Given the description of an element on the screen output the (x, y) to click on. 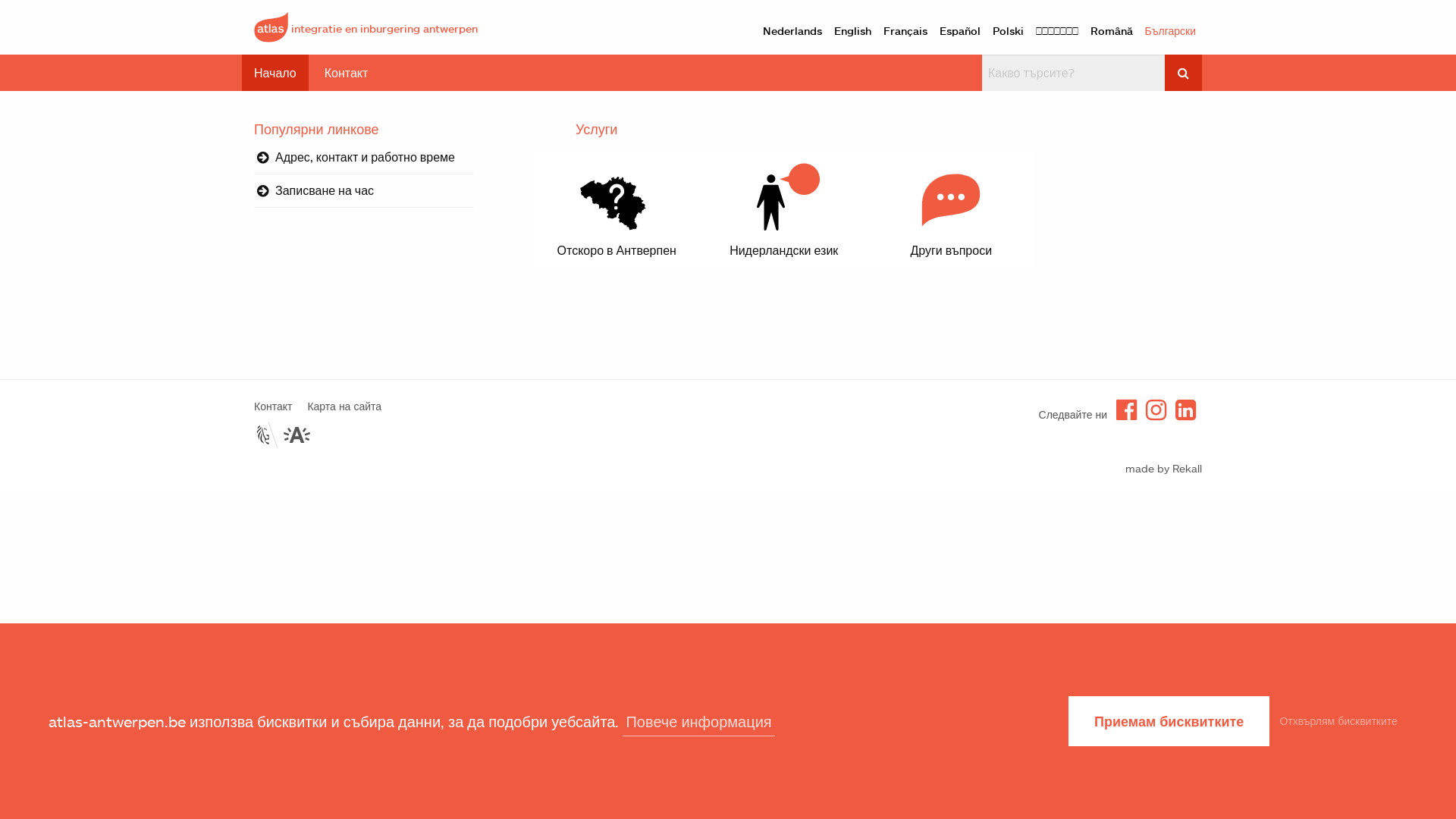
English Element type: text (852, 30)
Linked In Element type: hover (1185, 410)
made by Rekall Element type: text (1163, 467)
Facebook Element type: hover (1126, 410)
integratie en inburgering antwerpen Element type: text (365, 25)
Polski Element type: text (1007, 30)
Nederlands Element type: text (792, 30)
Zoek Element type: text (1182, 72)
Instagram Element type: hover (1155, 410)
